Given the description of an element on the screen output the (x, y) to click on. 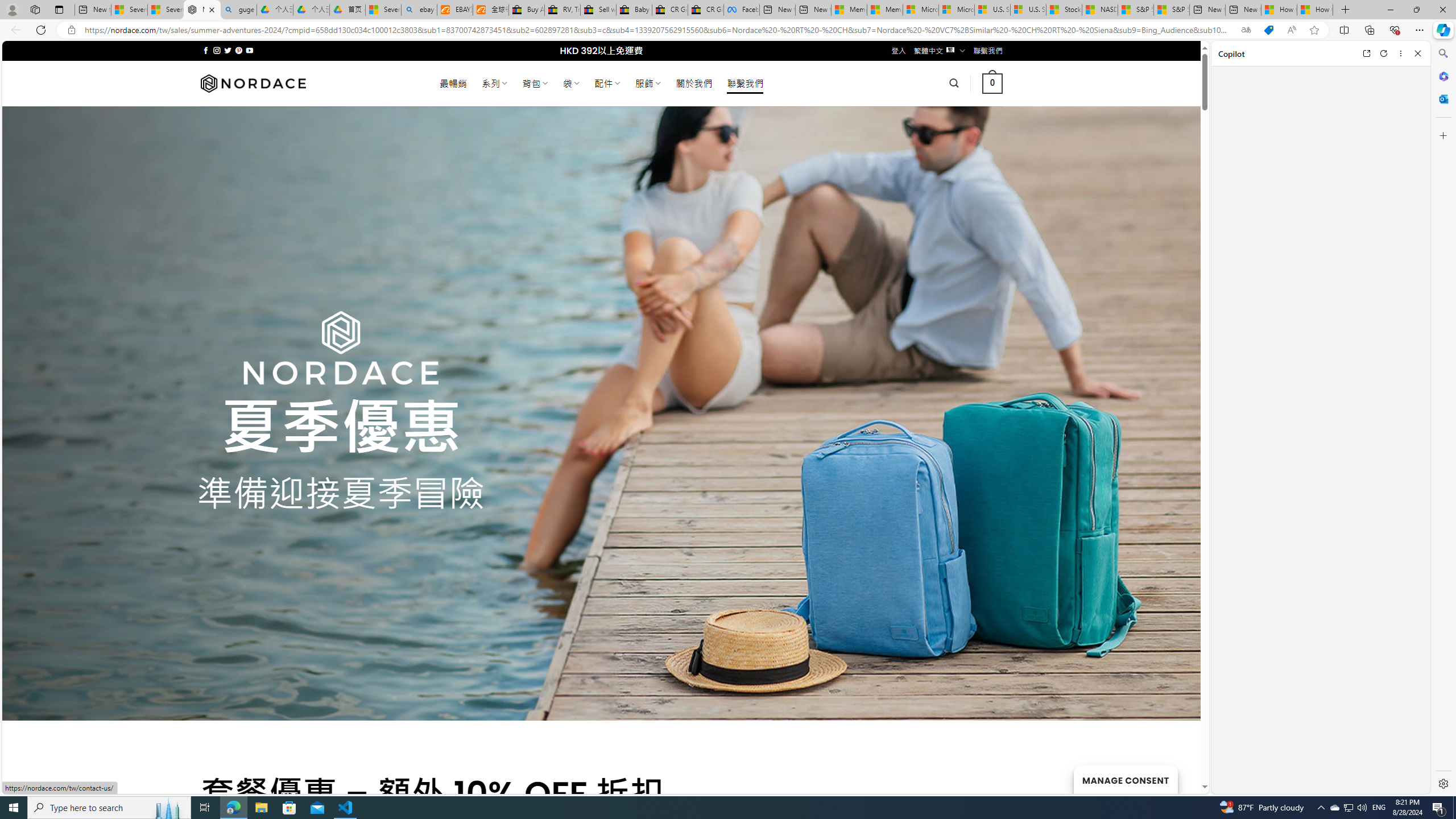
  0   (992, 83)
